Given the description of an element on the screen output the (x, y) to click on. 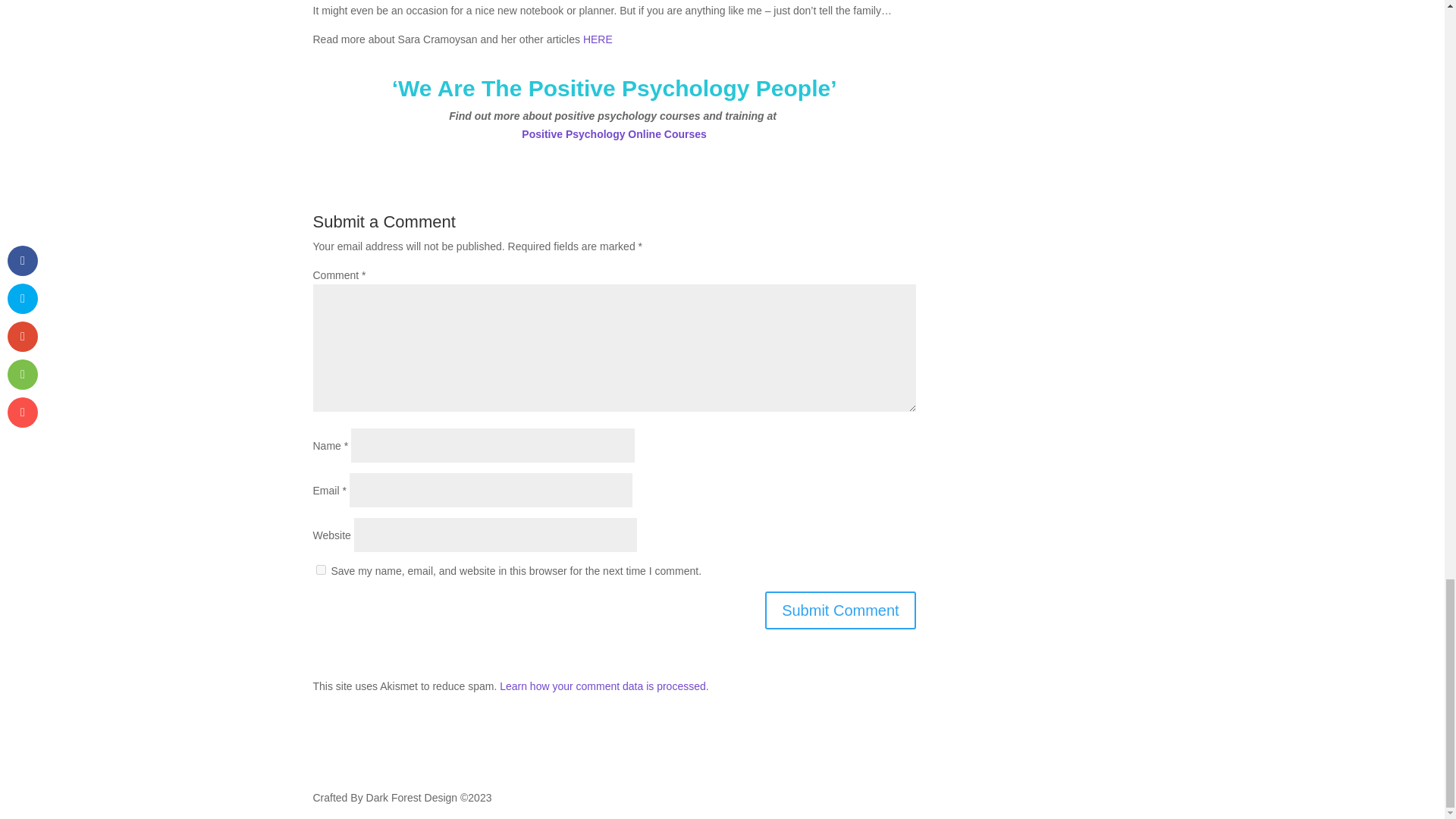
yes (319, 569)
Submit Comment (840, 610)
